Given the description of an element on the screen output the (x, y) to click on. 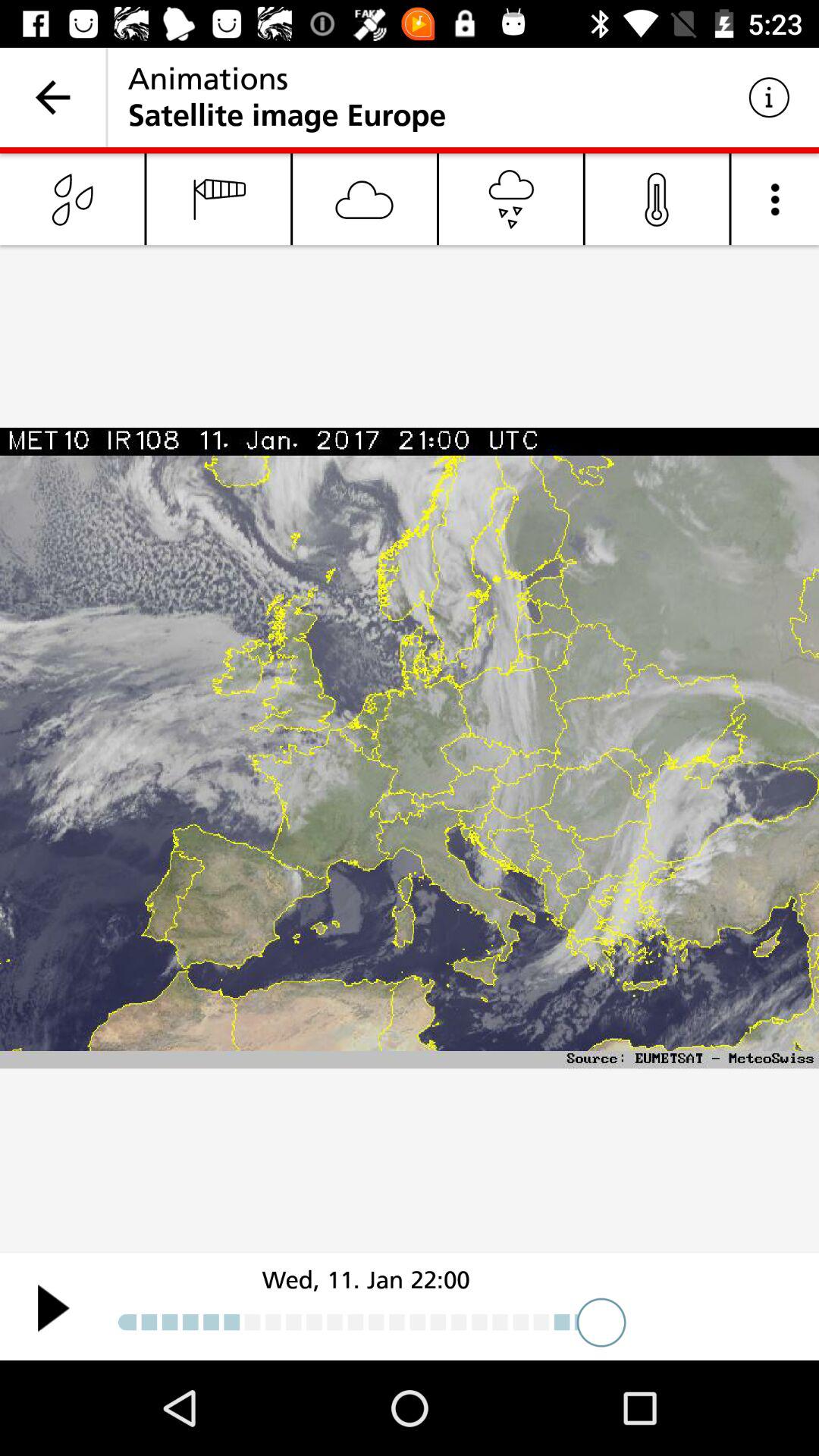
select the item next to animations (52, 97)
